Given the description of an element on the screen output the (x, y) to click on. 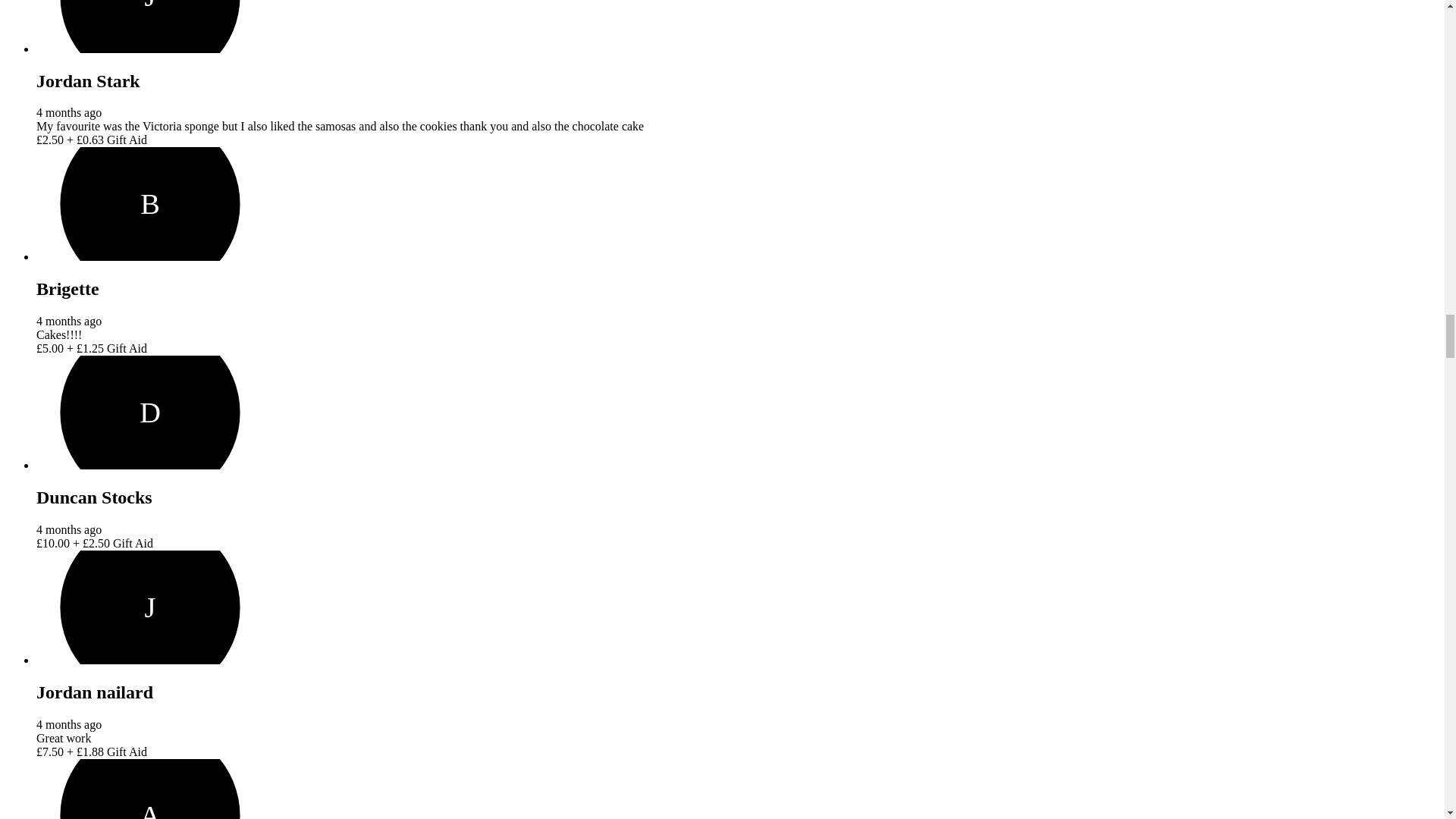
A (149, 789)
J (149, 26)
J (149, 607)
D (149, 412)
B (149, 204)
